Given the description of an element on the screen output the (x, y) to click on. 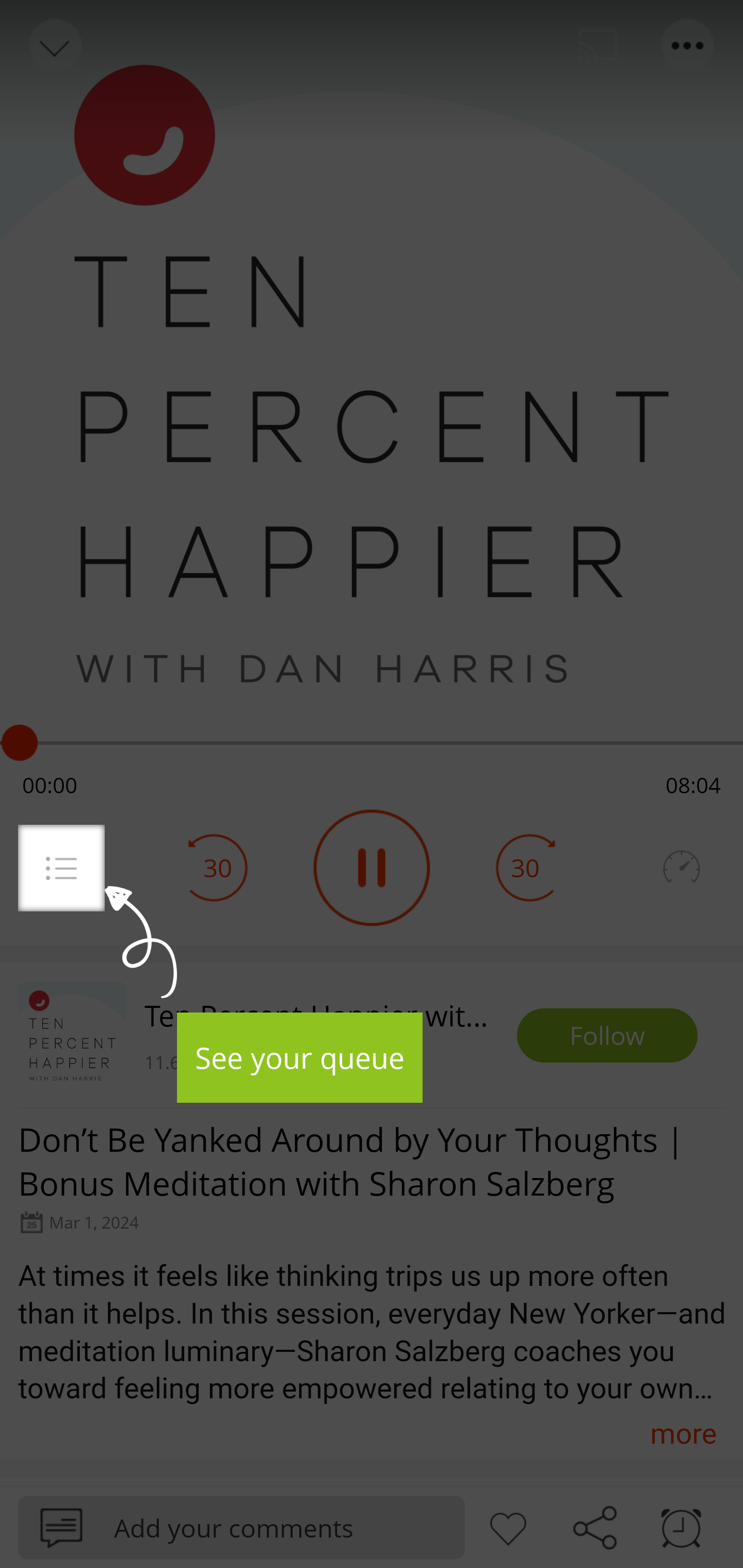
Menu (60, 867)
